Given the description of an element on the screen output the (x, y) to click on. 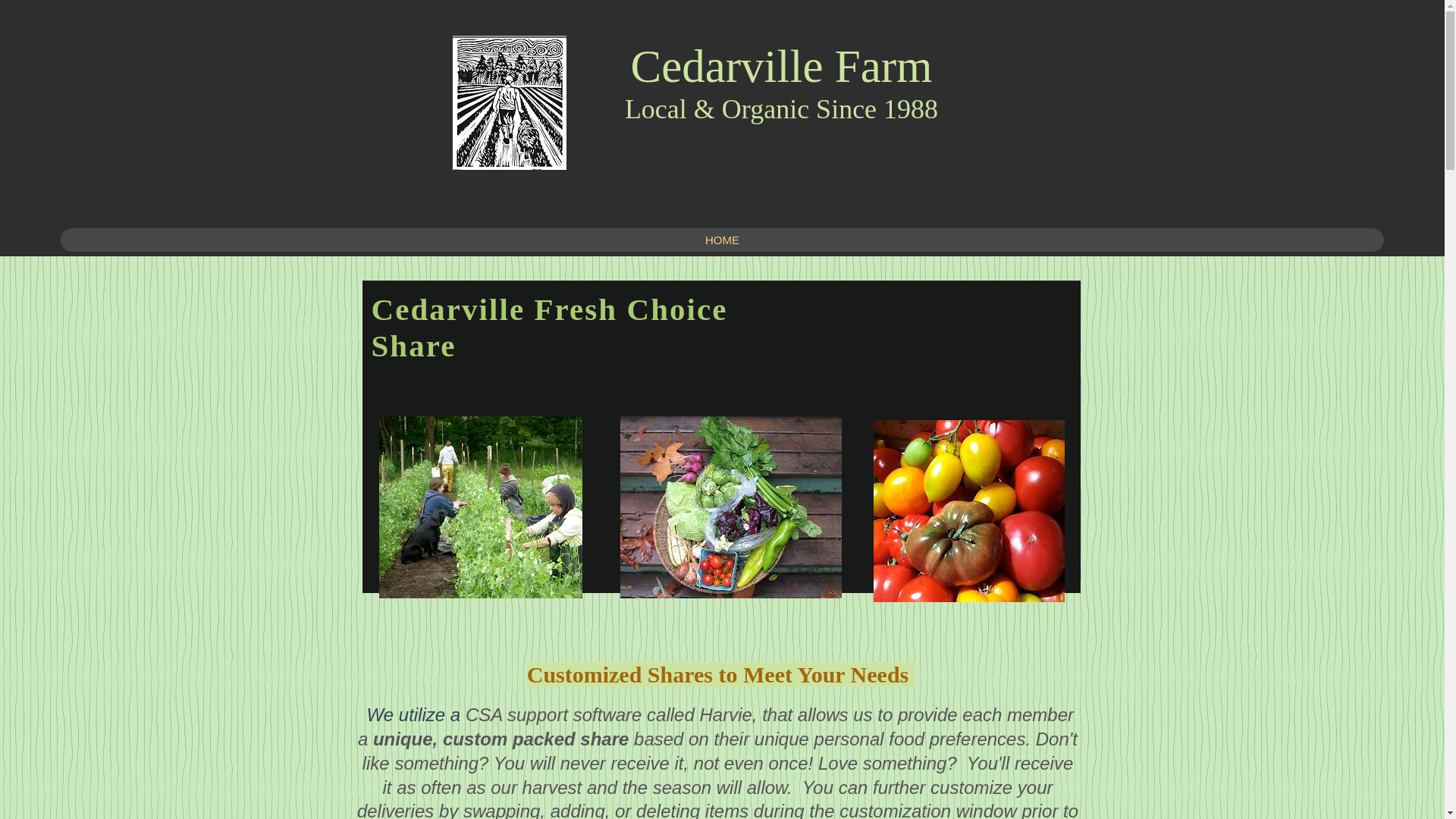
Cedarville Farm (780, 65)
HOME (722, 239)
